Given the description of an element on the screen output the (x, y) to click on. 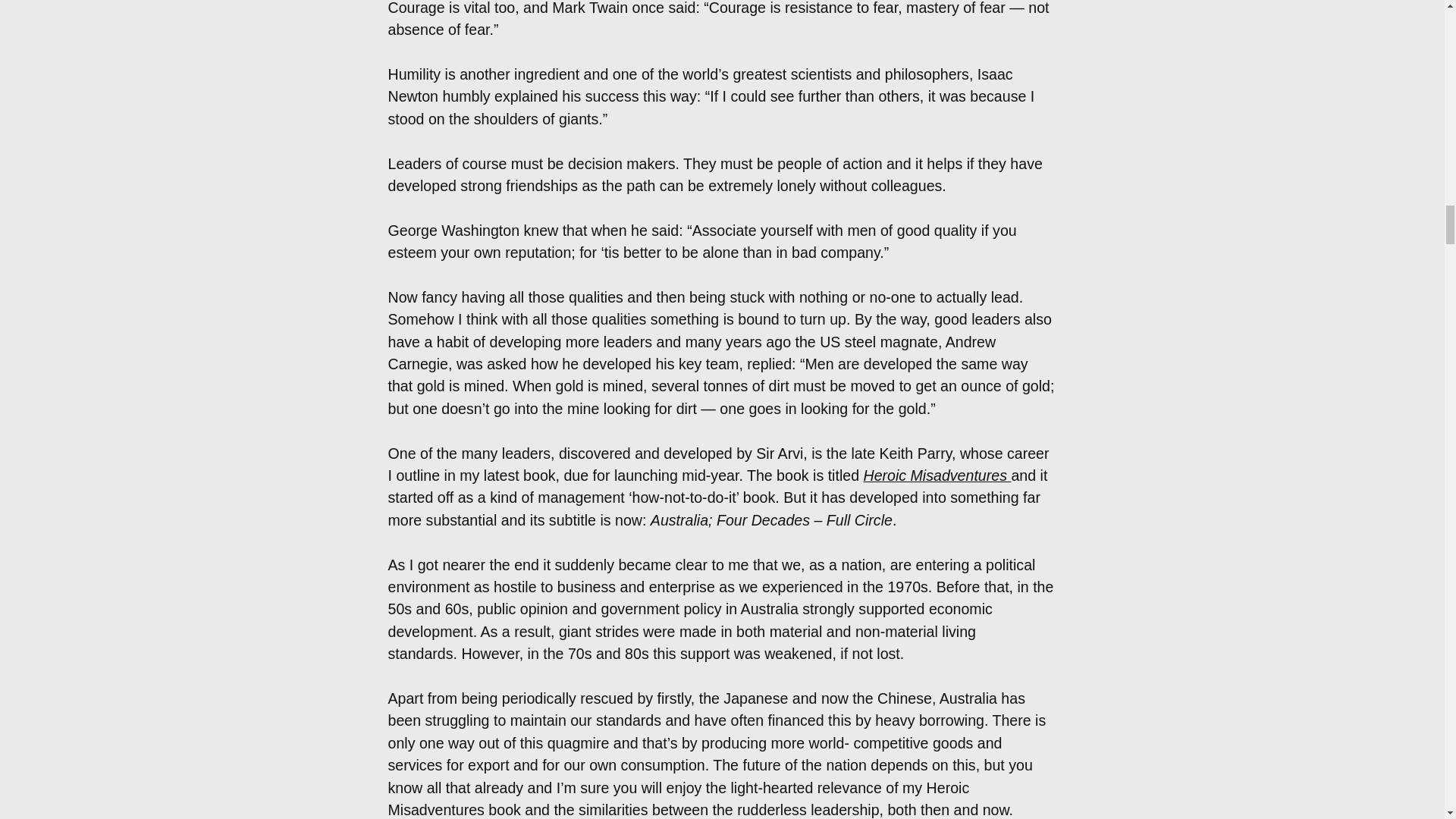
Heroic Misadventures (936, 475)
Page 4 (722, 65)
